Given the description of an element on the screen output the (x, y) to click on. 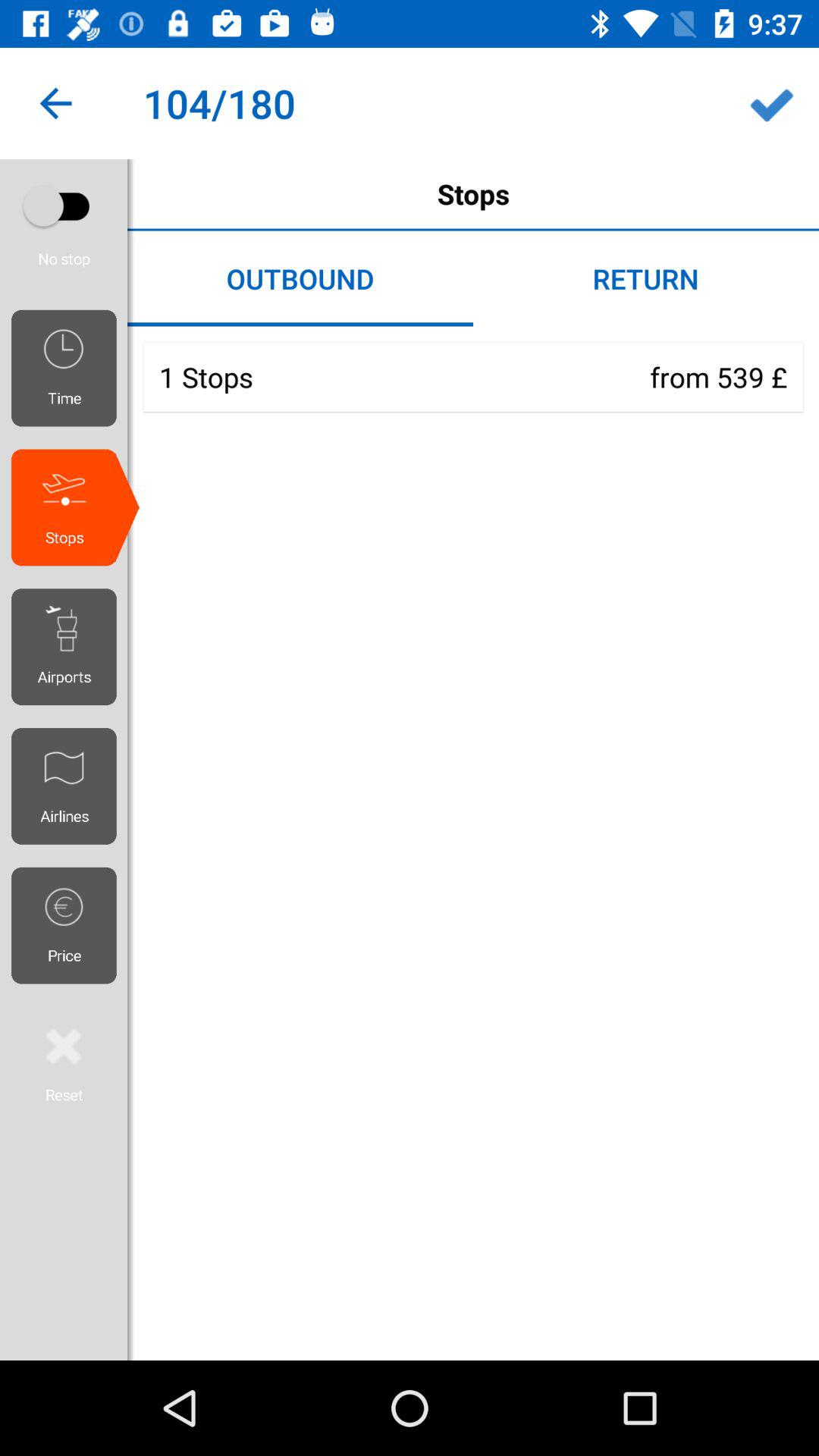
cancel (63, 1062)
